Given the description of an element on the screen output the (x, y) to click on. 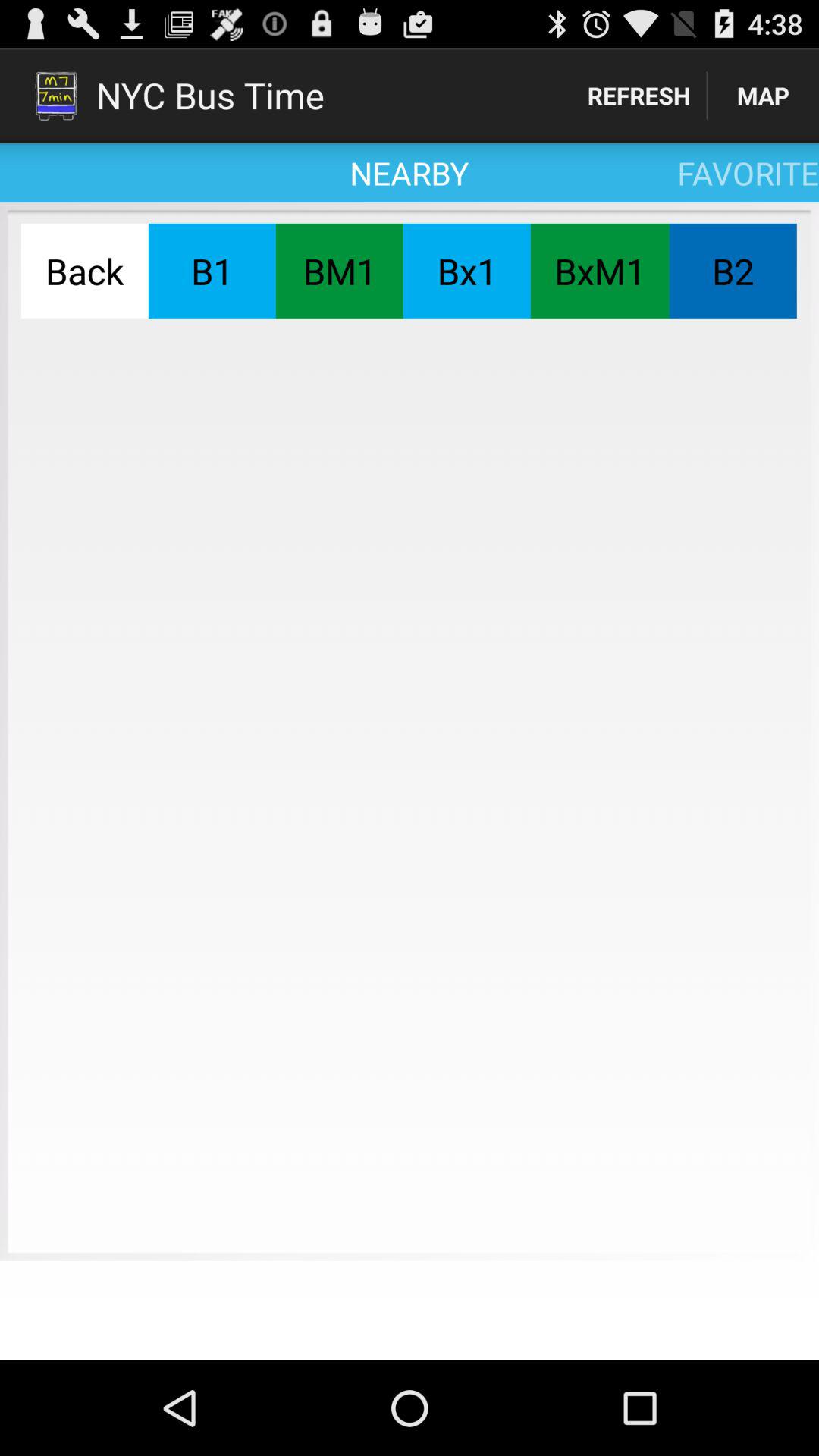
turn off the button next to the bm1 icon (466, 271)
